Given the description of an element on the screen output the (x, y) to click on. 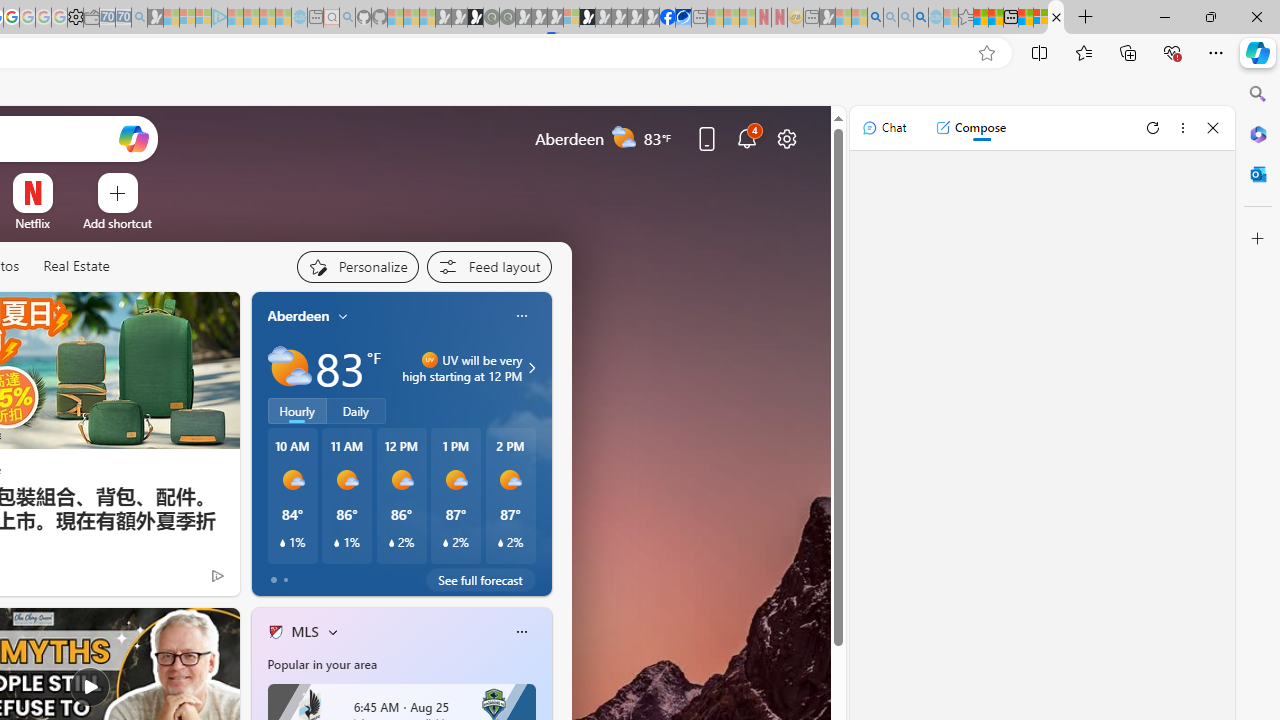
My location (343, 315)
Add a site (117, 223)
See full forecast (480, 579)
Chat (884, 128)
Wallet - Sleeping (91, 17)
Feed settings (488, 266)
